Given the description of an element on the screen output the (x, y) to click on. 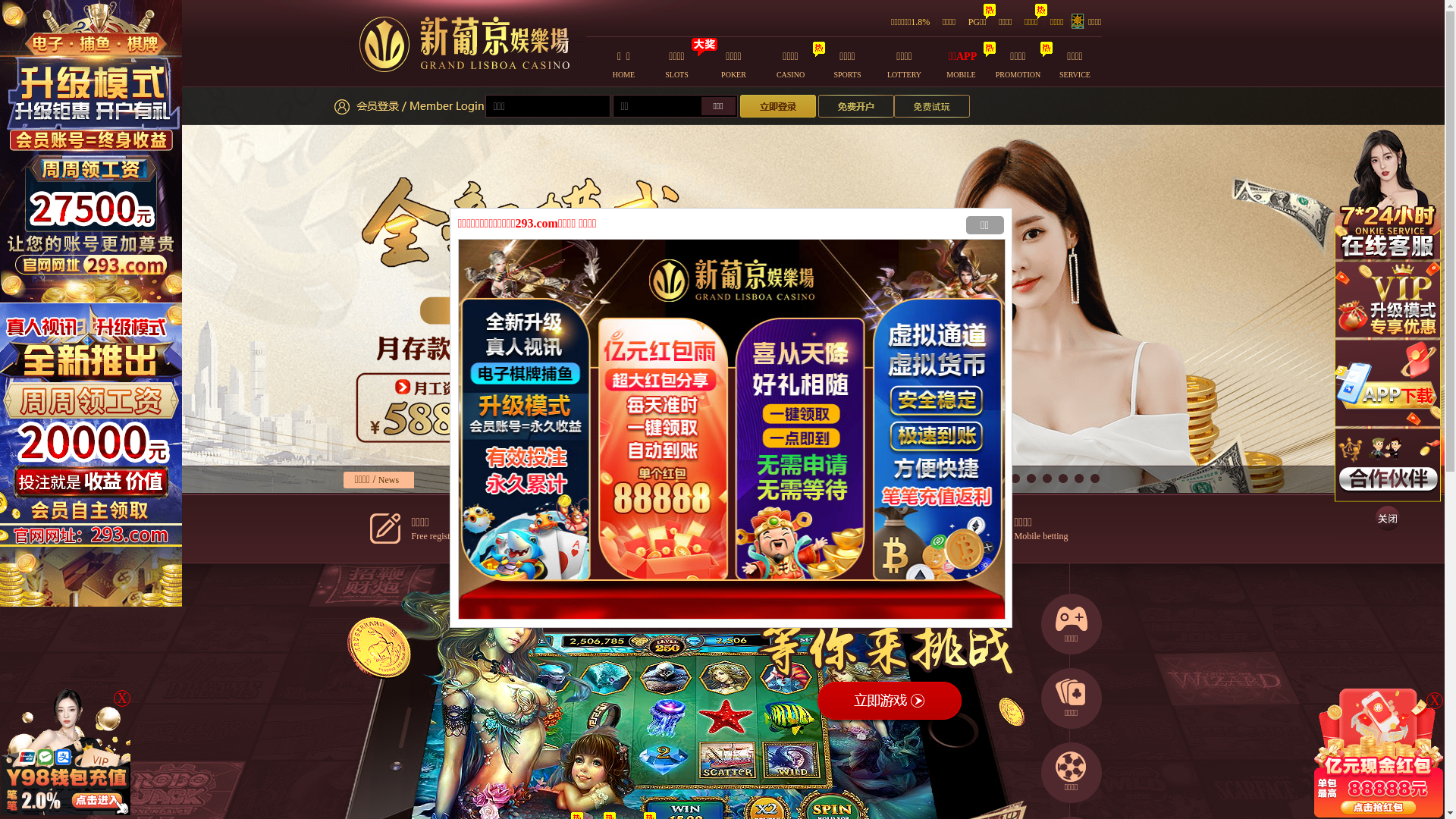
X Element type: text (1434, 700)
X Element type: text (121, 698)
